Given the description of an element on the screen output the (x, y) to click on. 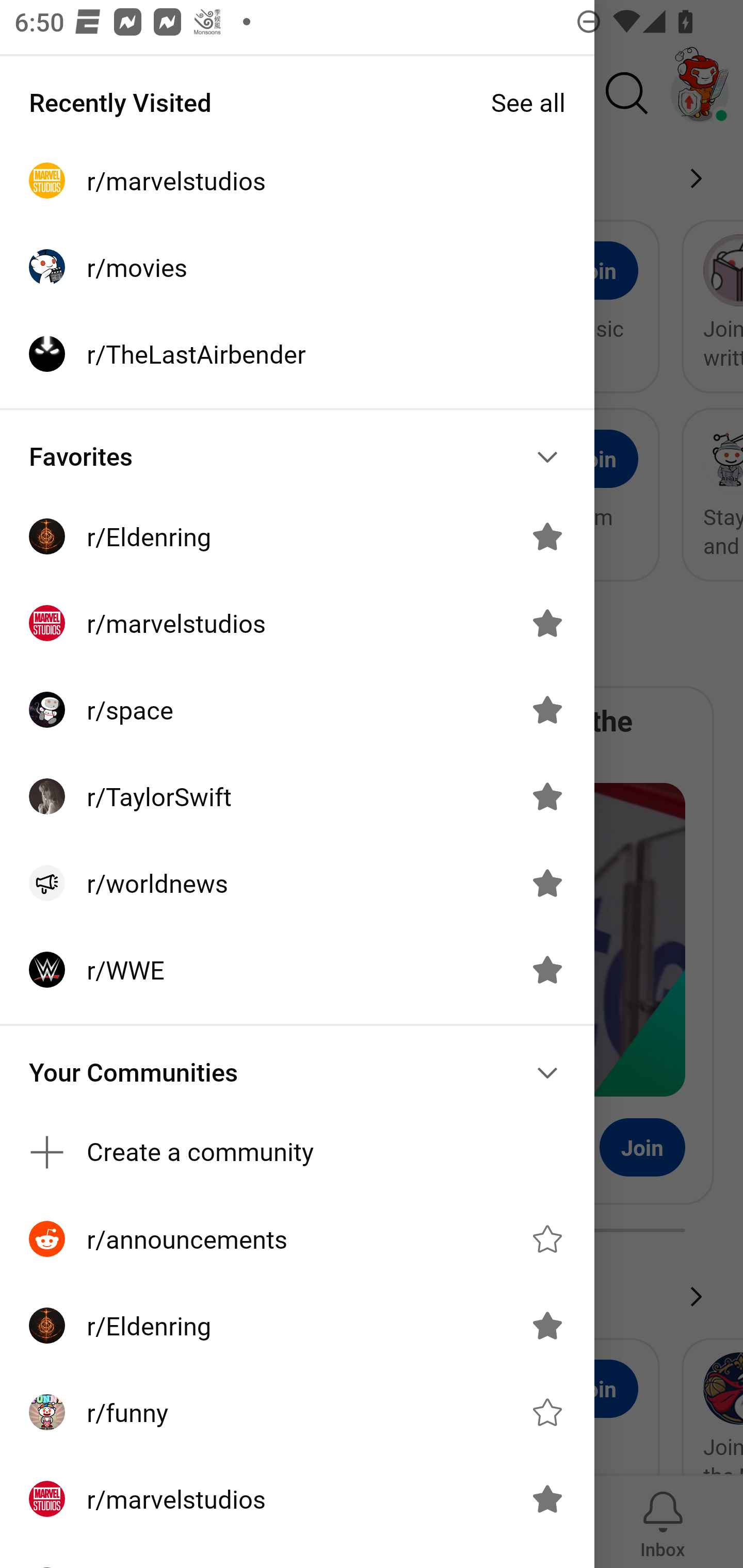
Recently Visited See all (297, 102)
See all (528, 102)
r/marvelstudios (297, 180)
r/movies (297, 267)
r/TheLastAirbender (297, 353)
Favorites (297, 456)
r/Eldenring Unfavorite r/Eldenring (297, 536)
Unfavorite r/Eldenring (546, 536)
r/marvelstudios Unfavorite r/marvelstudios (297, 623)
Unfavorite r/marvelstudios (546, 623)
r/space Unfavorite r/space (297, 709)
Unfavorite r/space (546, 709)
r/TaylorSwift Unfavorite r/TaylorSwift (297, 796)
Unfavorite r/TaylorSwift (546, 796)
r/worldnews Unfavorite r/worldnews (297, 883)
Unfavorite r/worldnews (546, 882)
r/WWE Unfavorite r/WWE (297, 969)
Unfavorite r/WWE (546, 969)
Your Communities (297, 1072)
Create a community (297, 1151)
r/announcements Favorite r/announcements (297, 1238)
Favorite r/announcements (546, 1238)
r/Eldenring Unfavorite r/Eldenring (297, 1325)
Unfavorite r/Eldenring (546, 1325)
r/funny Favorite r/funny (297, 1411)
Favorite r/funny (546, 1411)
r/marvelstudios Unfavorite r/marvelstudios (297, 1498)
Unfavorite r/marvelstudios (546, 1498)
